Given the description of an element on the screen output the (x, y) to click on. 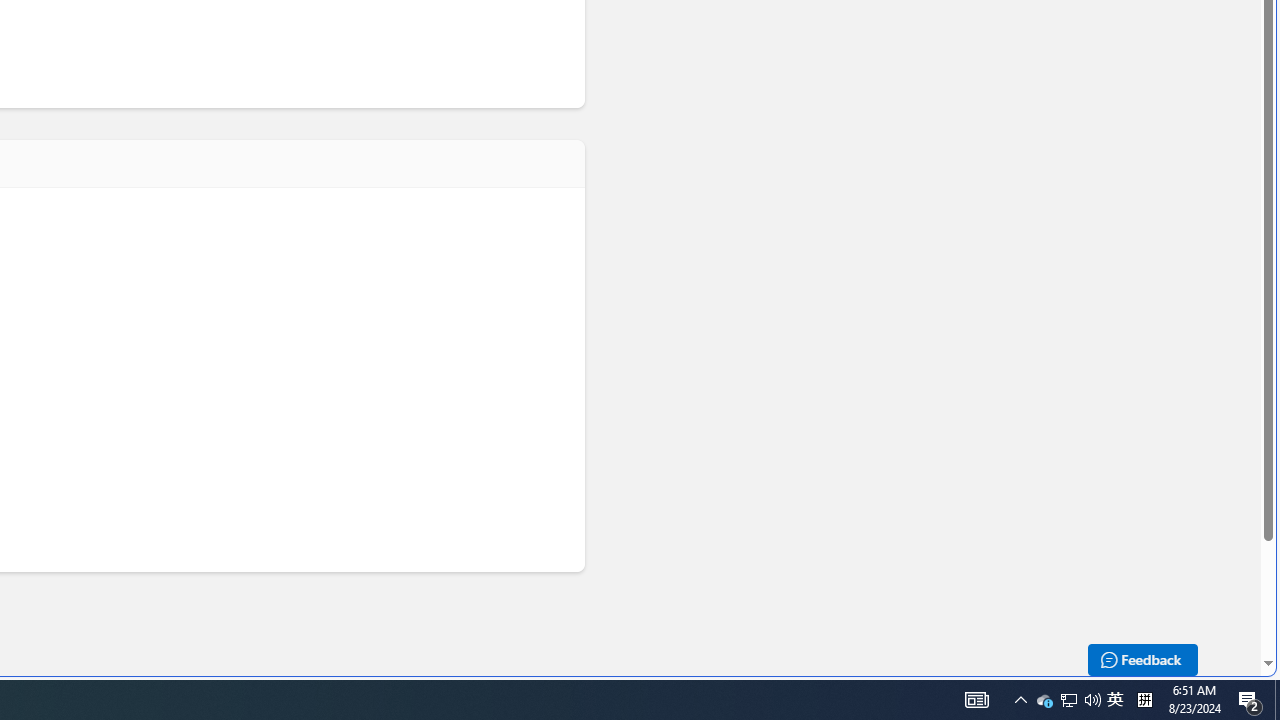
google_privacy_policy_zh-CN.pdf (687, 482)
MSN (687, 223)
